Given the description of an element on the screen output the (x, y) to click on. 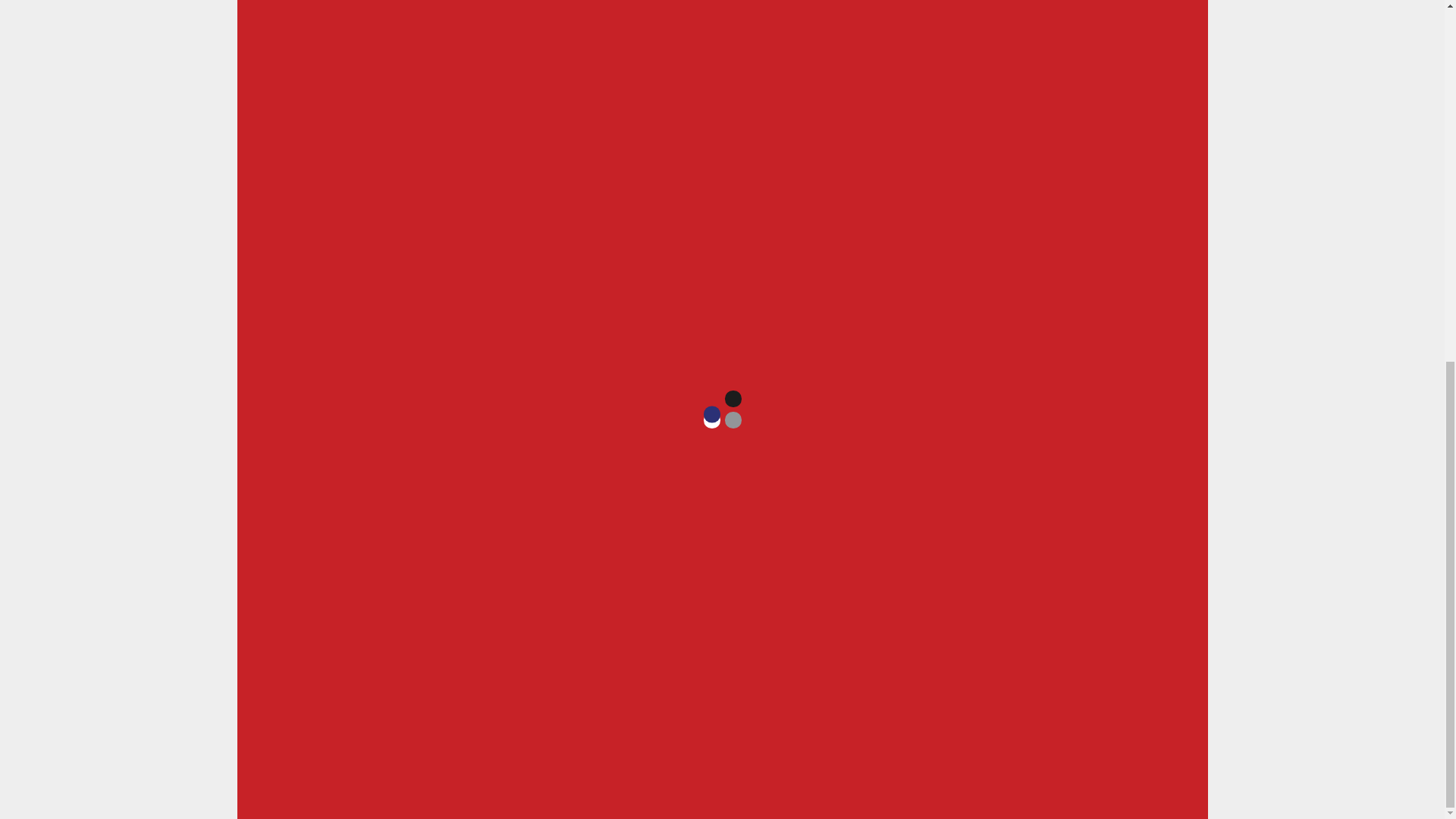
Subscribe (635, 682)
SITE BY ICON (404, 728)
Privacy Policy (596, 724)
Cookie Policy (674, 724)
Natti (505, 354)
Terms and Conditions  (772, 724)
Privacy Policy  (596, 724)
www.superprogressives.com (467, 406)
Cookie Policy  (674, 724)
Subscribe (635, 682)
